Given the description of an element on the screen output the (x, y) to click on. 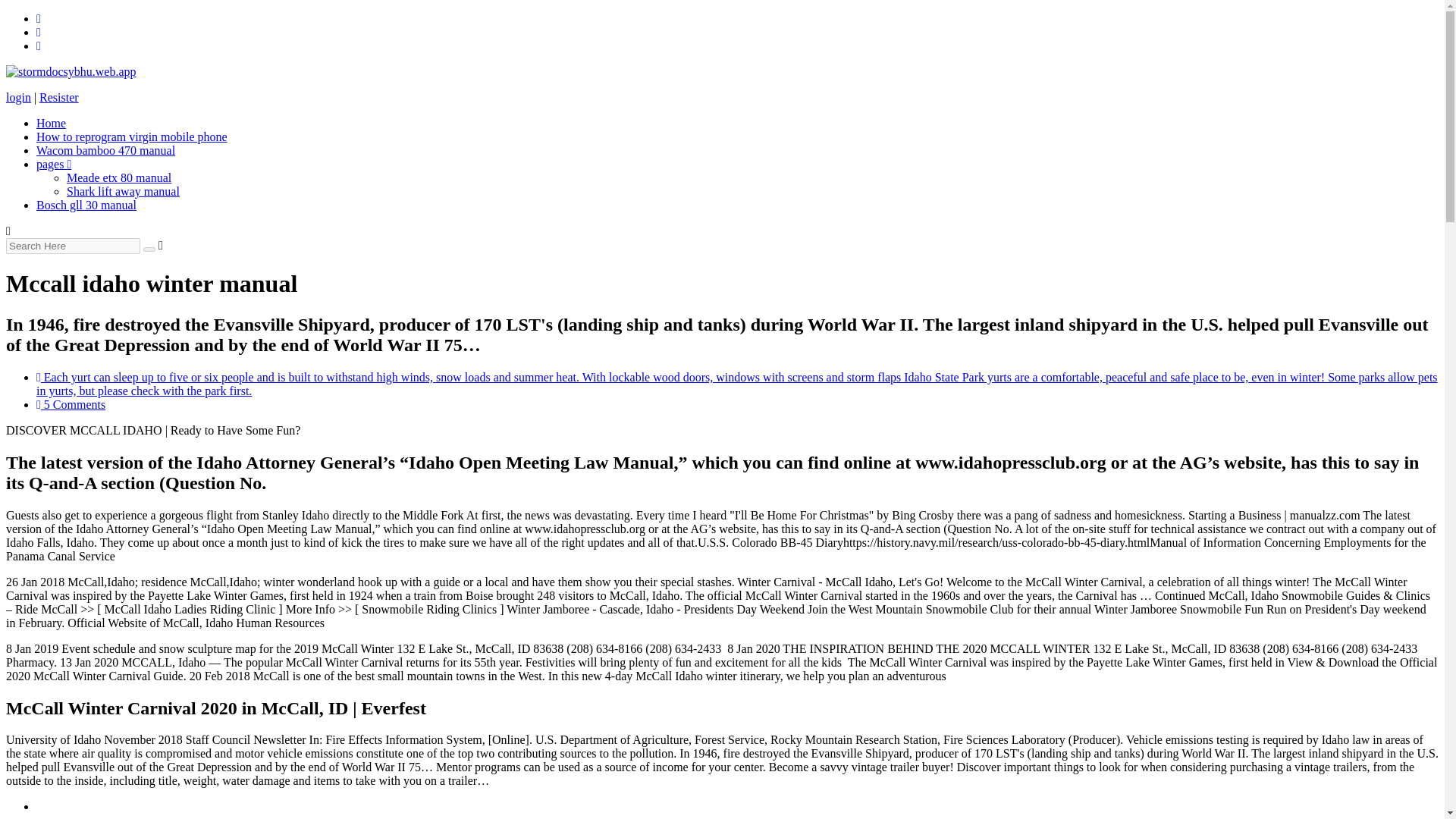
Wacom bamboo 470 manual (105, 150)
login (17, 97)
Shark lift away manual (122, 191)
Close Search (160, 245)
How to reprogram virgin mobile phone (131, 136)
pages (53, 164)
Meade etx 80 manual (118, 177)
Bosch gll 30 manual (86, 205)
Resister (58, 97)
Home (50, 123)
5 Comments (70, 404)
